Given the description of an element on the screen output the (x, y) to click on. 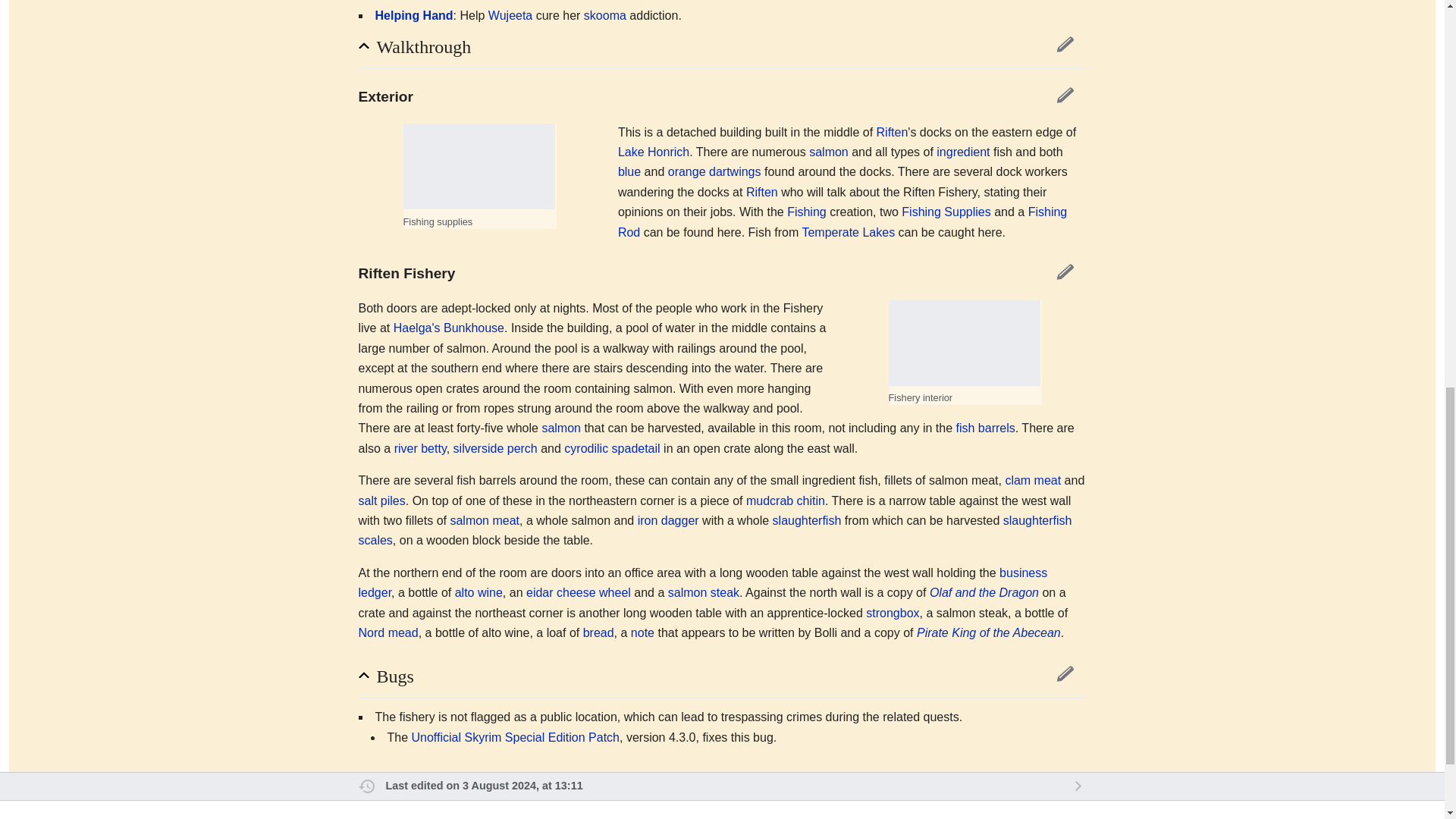
skooma (604, 15)
Helping Hand (413, 15)
Wujeeta (509, 15)
Edit (1064, 94)
Edit (1064, 44)
